Given the description of an element on the screen output the (x, y) to click on. 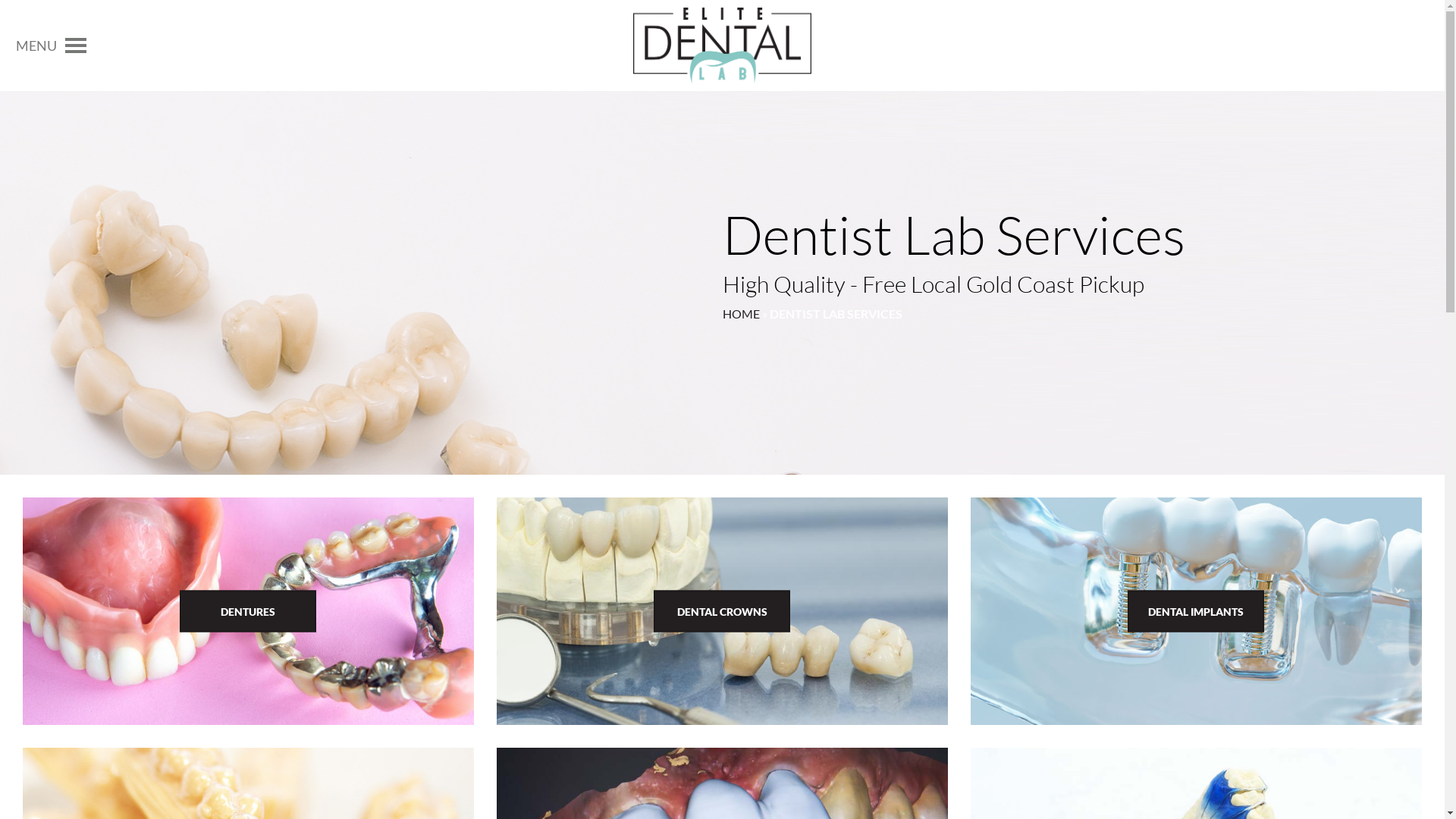
Elite Dental Lab Gold Coast Element type: hover (722, 43)
DENTURES Element type: text (247, 610)
DENTAL CROWNS Element type: text (721, 610)
DENTAL IMPLANTS Element type: text (1195, 610)
Dentist Lab Services Element type: hover (722, 45)
HOME Element type: text (740, 313)
